Given the description of an element on the screen output the (x, y) to click on. 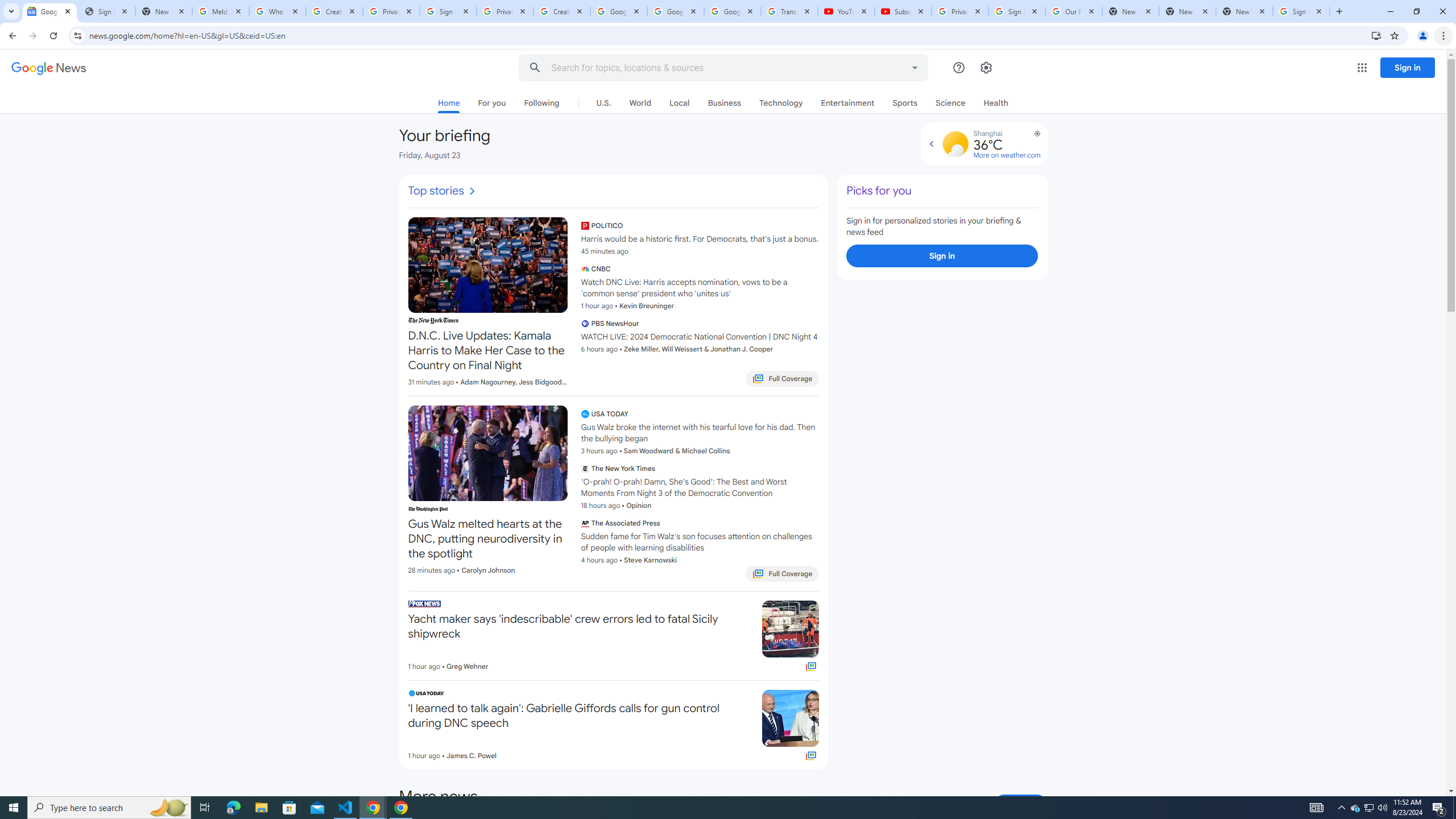
Science (950, 102)
More on weather.com (1006, 154)
Settings (986, 67)
Search for topics, locations & sources (711, 67)
Subscriptions - YouTube (902, 11)
